Given the description of an element on the screen output the (x, y) to click on. 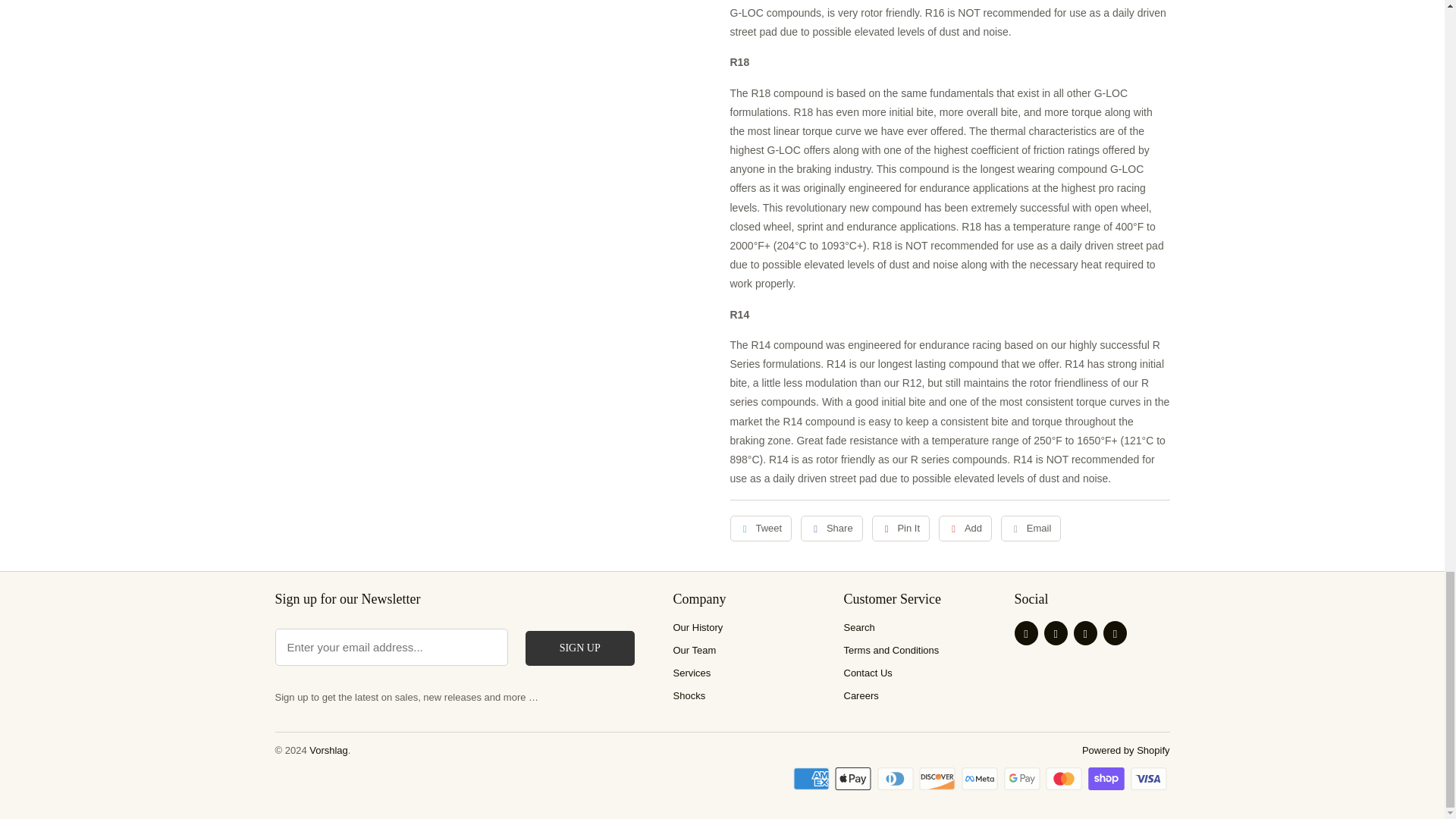
Sign Up (579, 647)
